Given the description of an element on the screen output the (x, y) to click on. 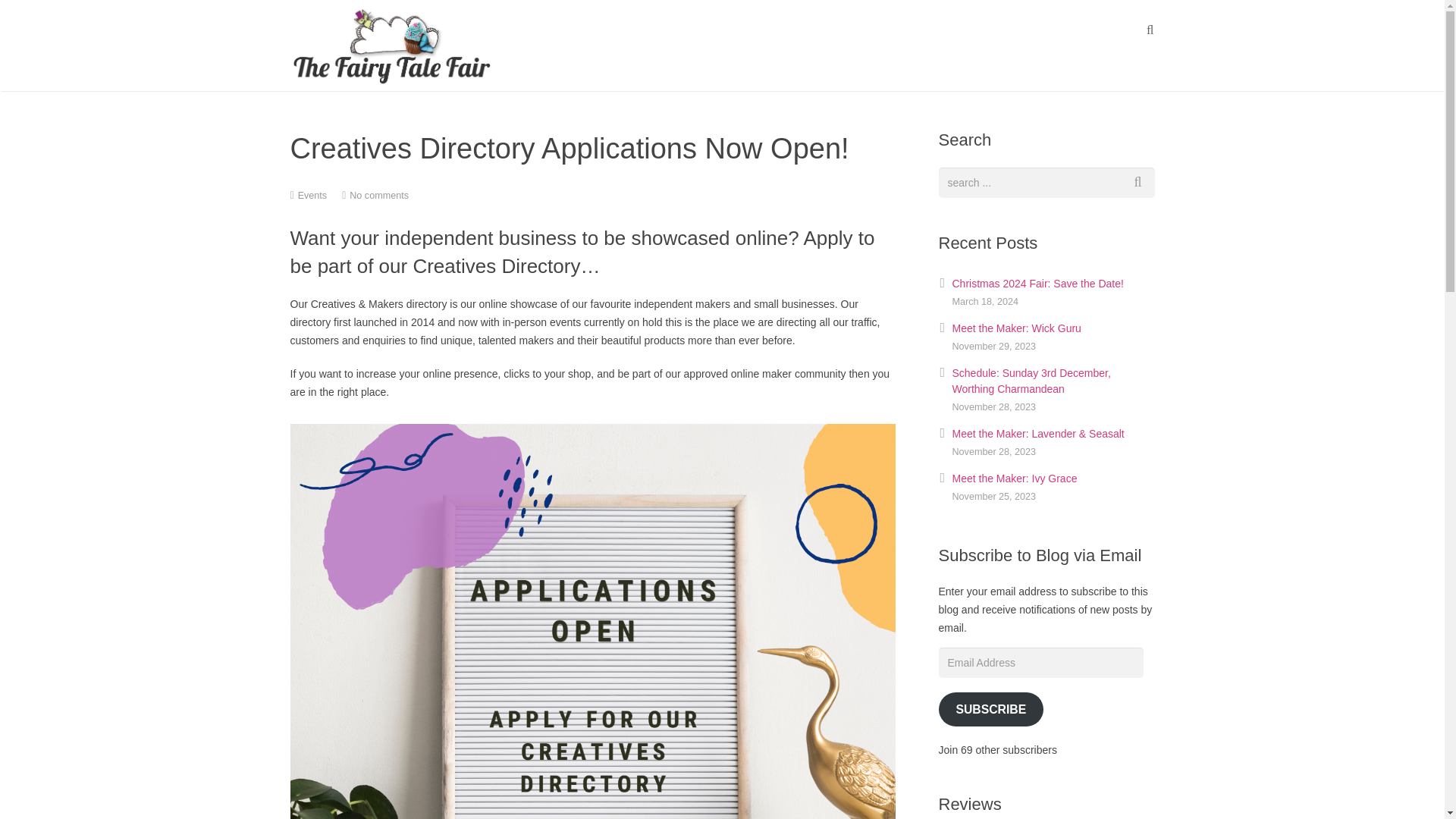
Meet the Maker: Ivy Grace (1014, 478)
SUBSCRIBE (991, 709)
No comments (379, 195)
Schedule: Sunday 3rd December, Worthing Charmandean (1031, 380)
Meet the Maker: Wick Guru (1016, 328)
Christmas 2024 Fair: Save the Date! (1038, 283)
Events (312, 195)
